Given the description of an element on the screen output the (x, y) to click on. 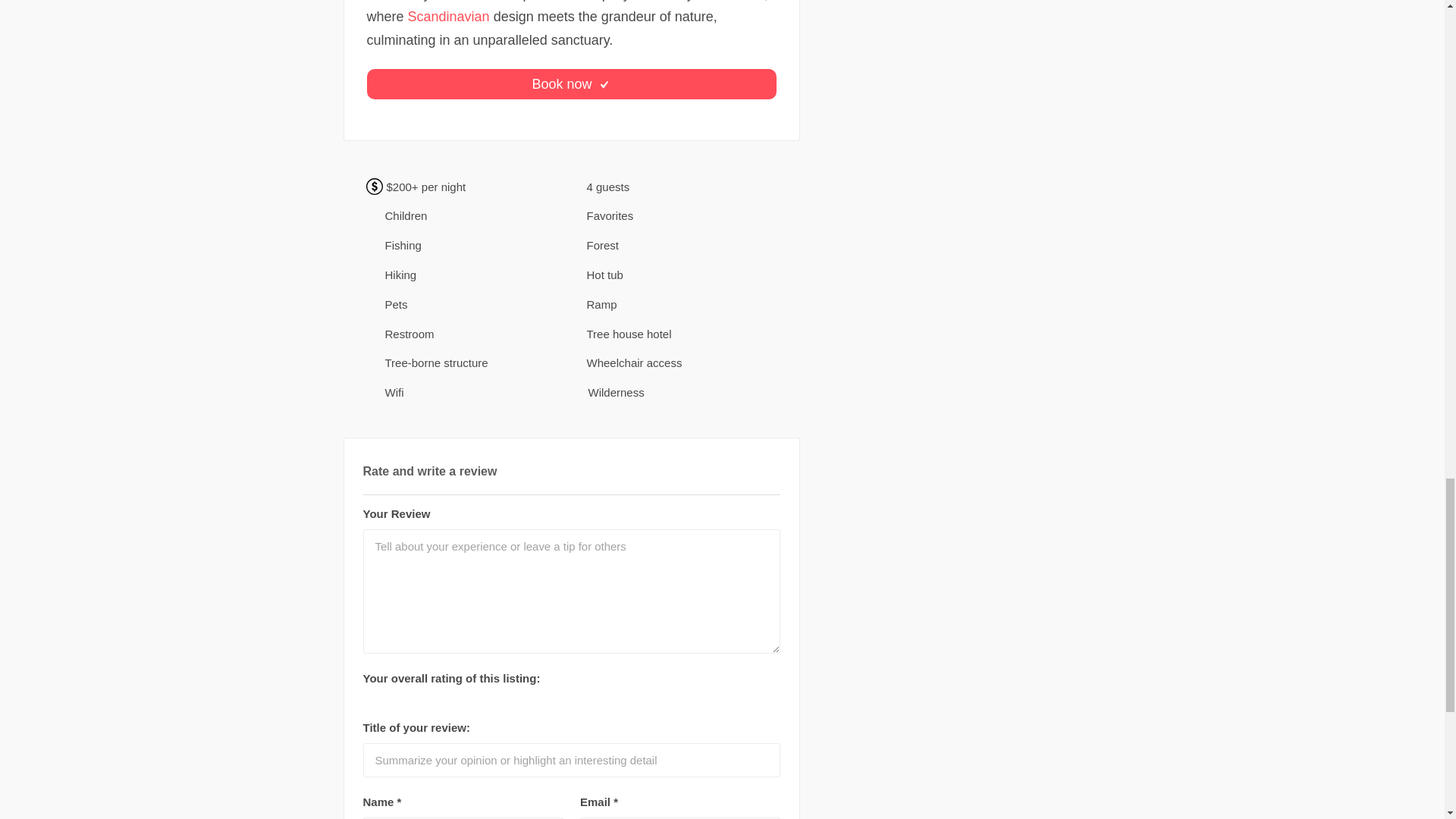
Scandinavian (448, 16)
